Given the description of an element on the screen output the (x, y) to click on. 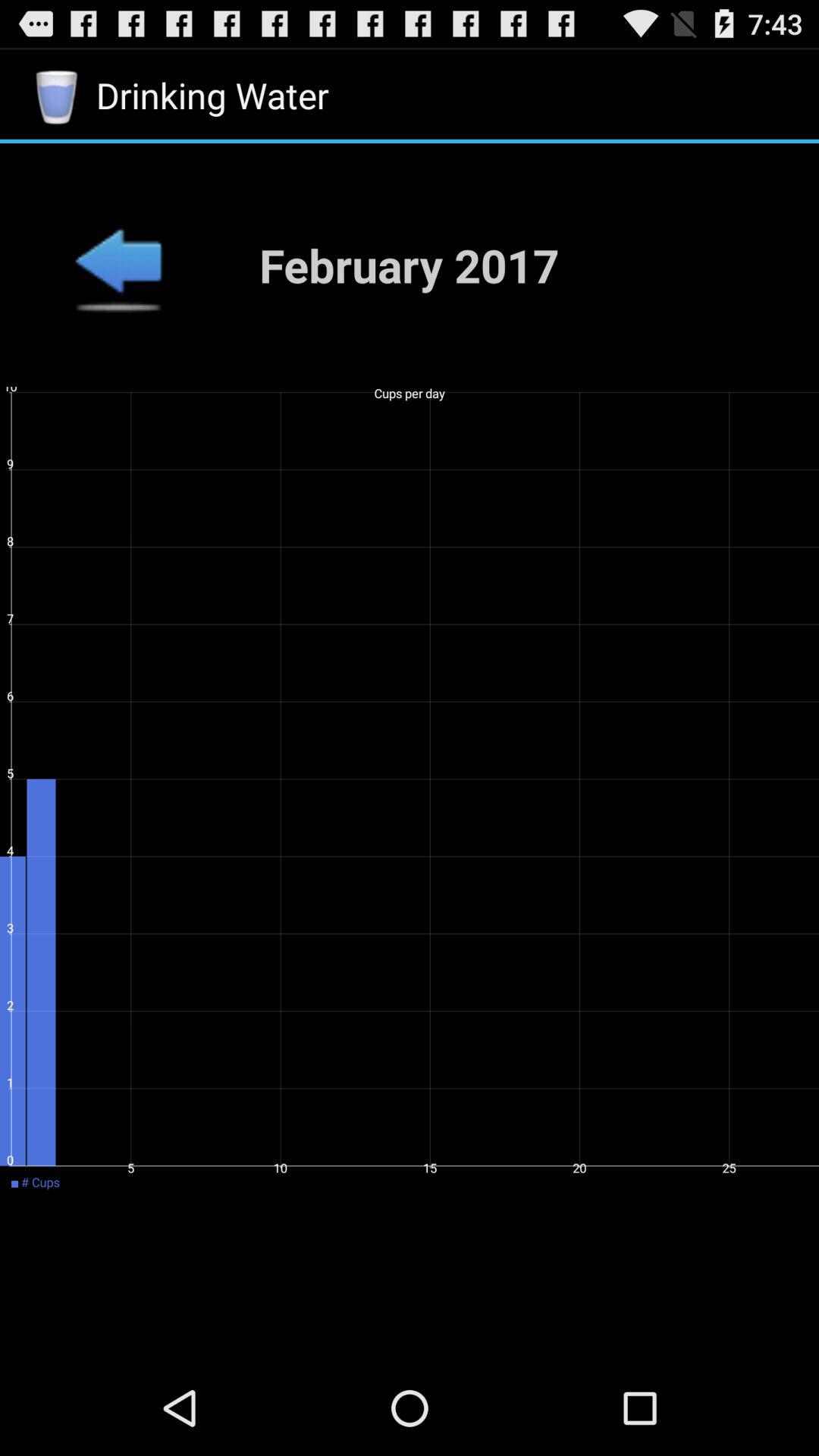
go back (118, 264)
